Given the description of an element on the screen output the (x, y) to click on. 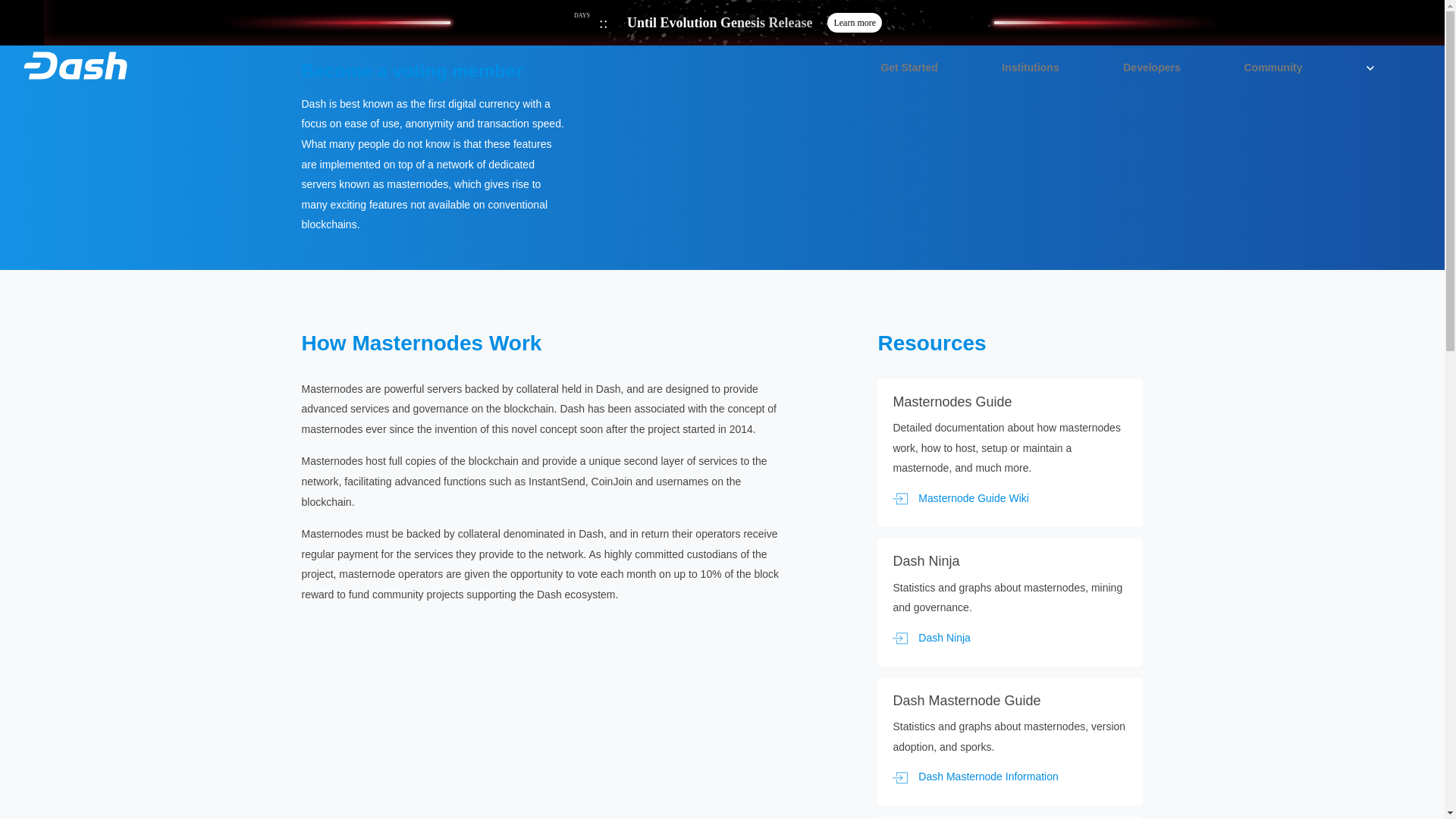
Dash Logo (76, 64)
Dash Logo (76, 65)
Institutions (1029, 69)
Developers (1150, 69)
Get Started (908, 69)
Learn more (854, 22)
